Given the description of an element on the screen output the (x, y) to click on. 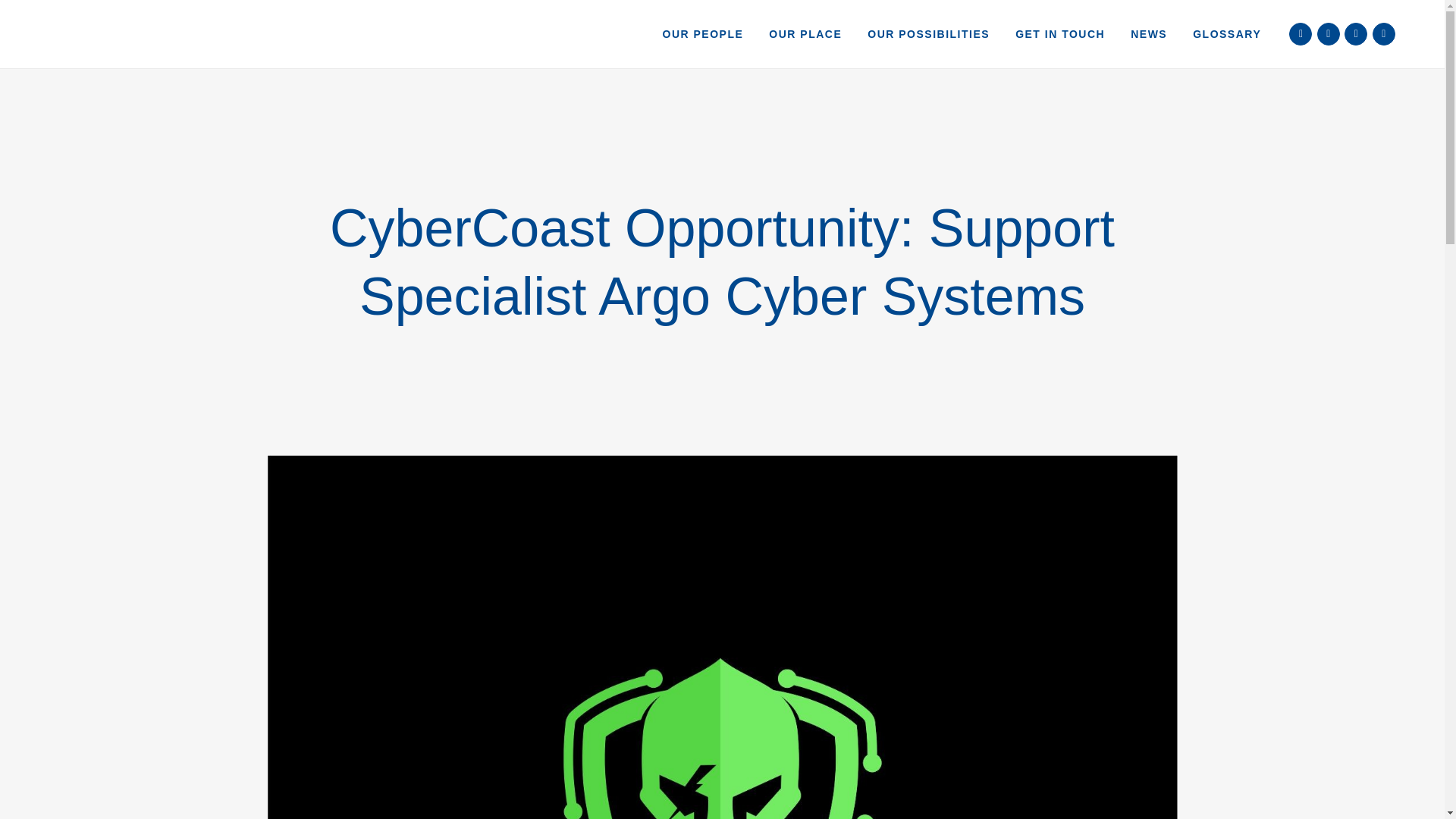
OUR POSSIBILITIES (928, 33)
GLOSSARY (1226, 33)
OUR PEOPLE (703, 33)
GET IN TOUCH (1060, 33)
OUR PLACE (804, 33)
NEWS (1148, 33)
